Given the description of an element on the screen output the (x, y) to click on. 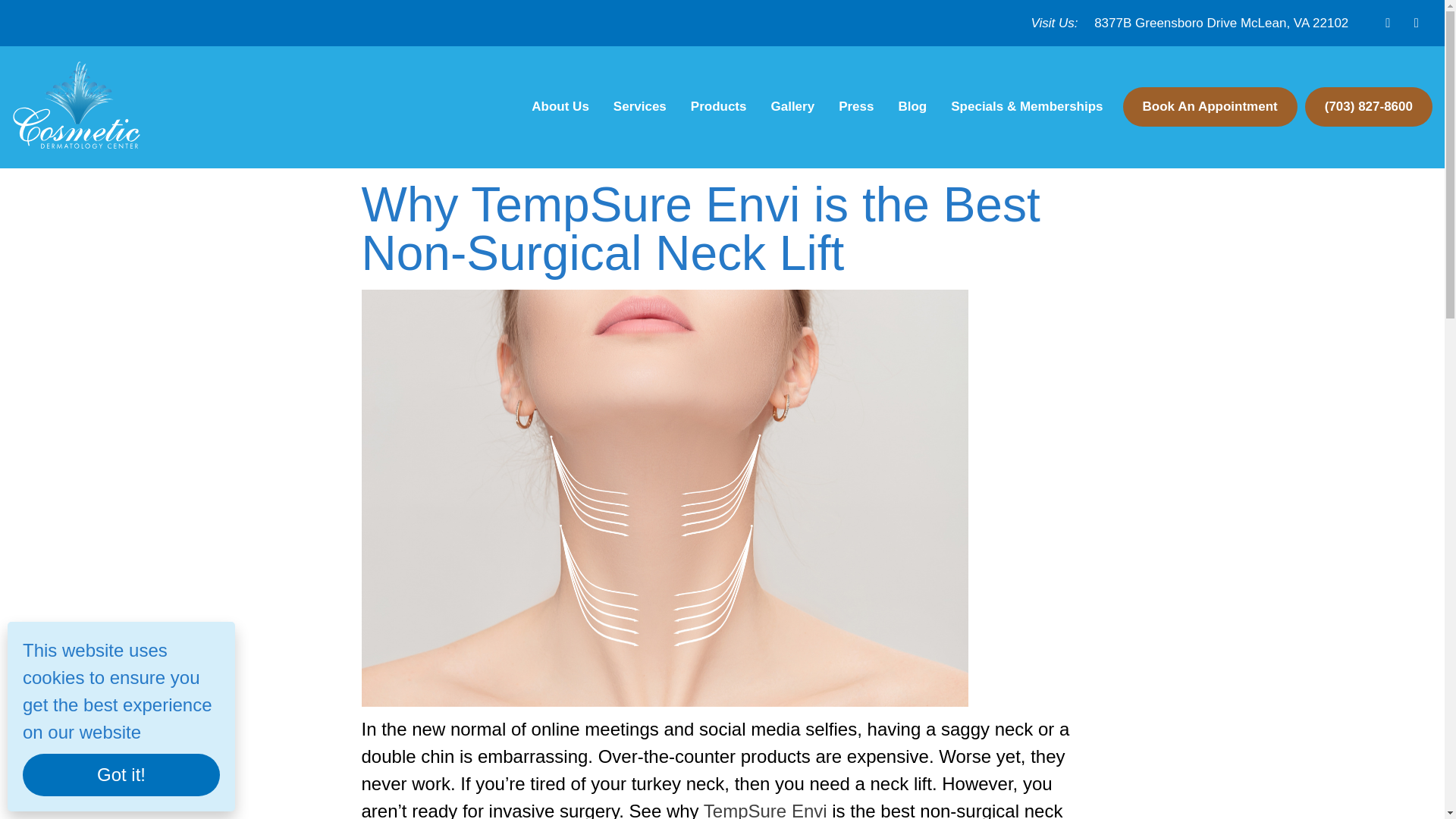
About Us (560, 106)
8377B Greensboro Drive McLean, VA 22102 (1221, 23)
Visit Us: (1054, 23)
Services (639, 106)
